Given the description of an element on the screen output the (x, y) to click on. 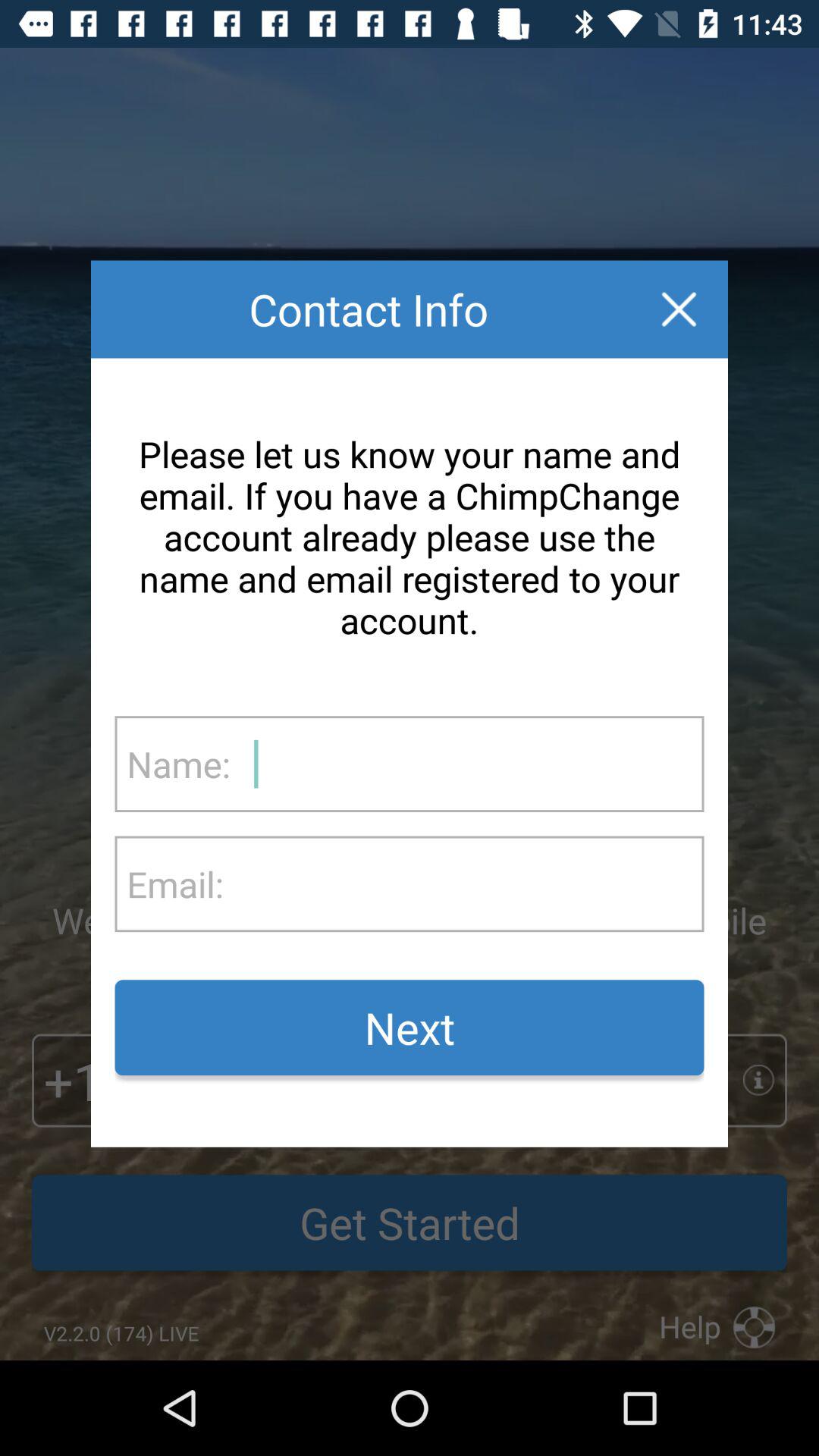
turn off the app to the right of the contact info (679, 309)
